Given the description of an element on the screen output the (x, y) to click on. 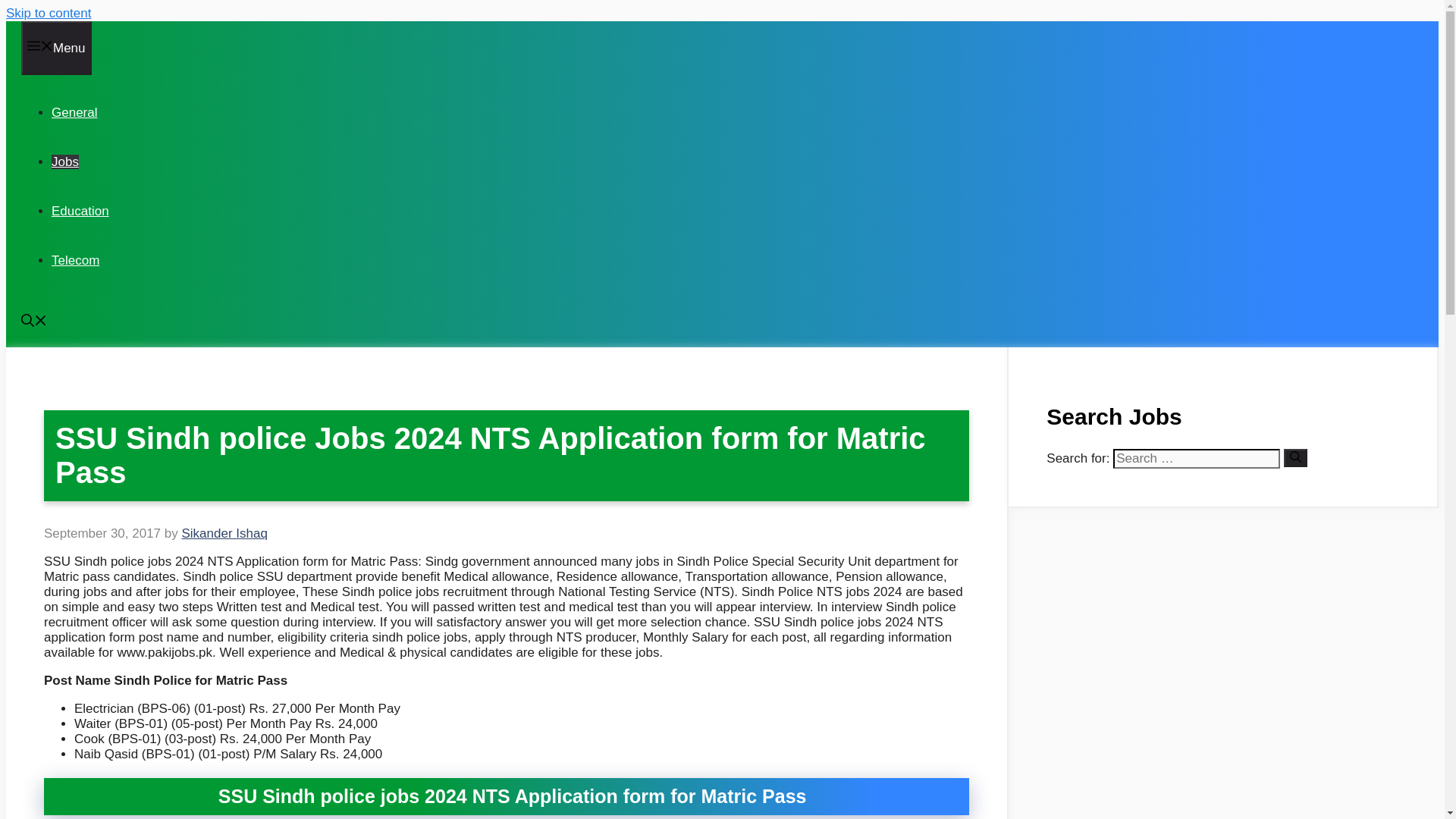
General (73, 112)
Jobs (64, 161)
Education (79, 210)
Skip to content (47, 12)
Search for: (1196, 458)
Sikander Ishaq (223, 533)
View all posts by Sikander Ishaq (223, 533)
Menu (56, 48)
Skip to content (47, 12)
Telecom (74, 260)
